Given the description of an element on the screen output the (x, y) to click on. 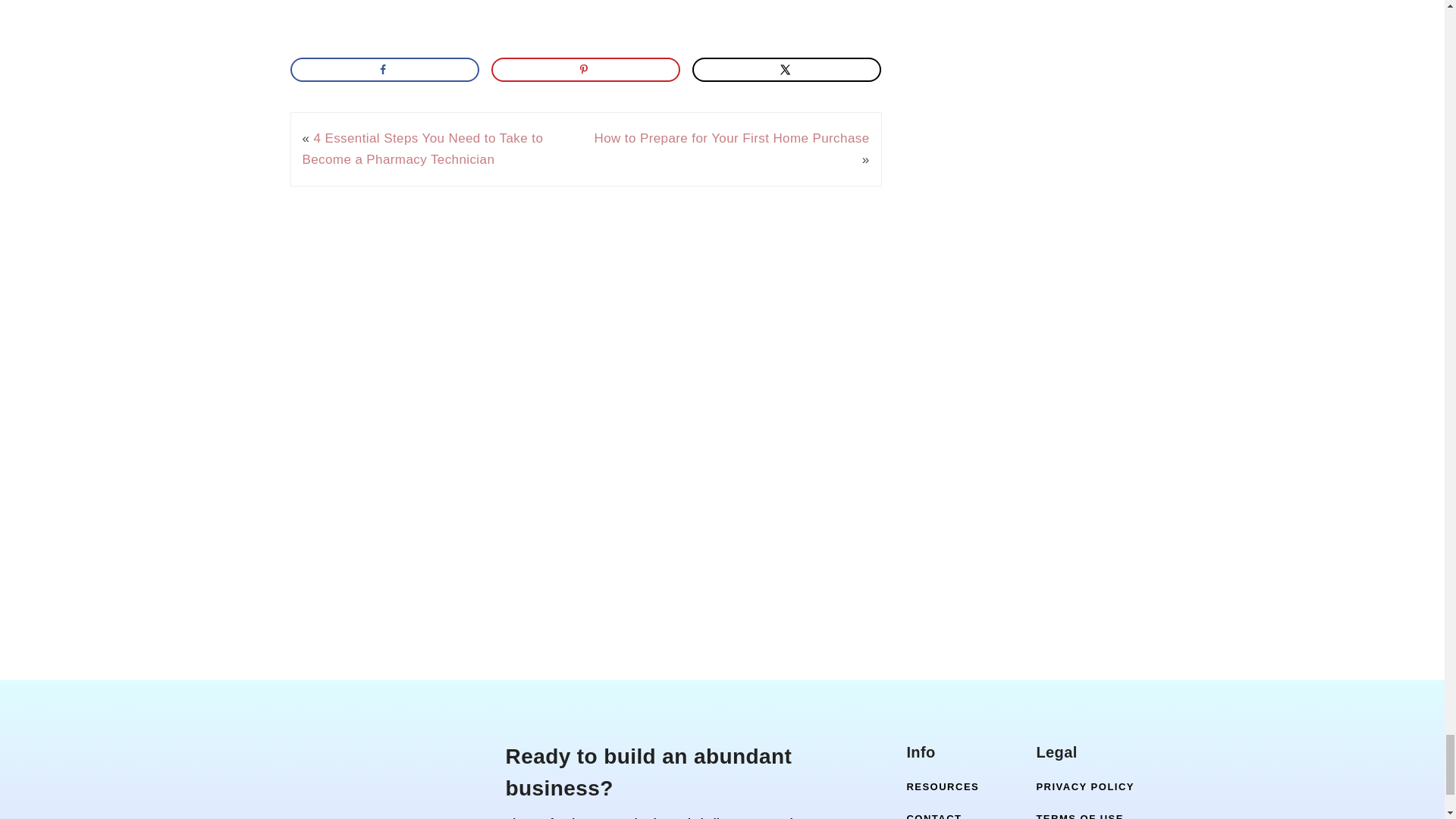
Share on X (787, 69)
Share on Facebook (384, 69)
Save to Pinterest (586, 69)
